Given the description of an element on the screen output the (x, y) to click on. 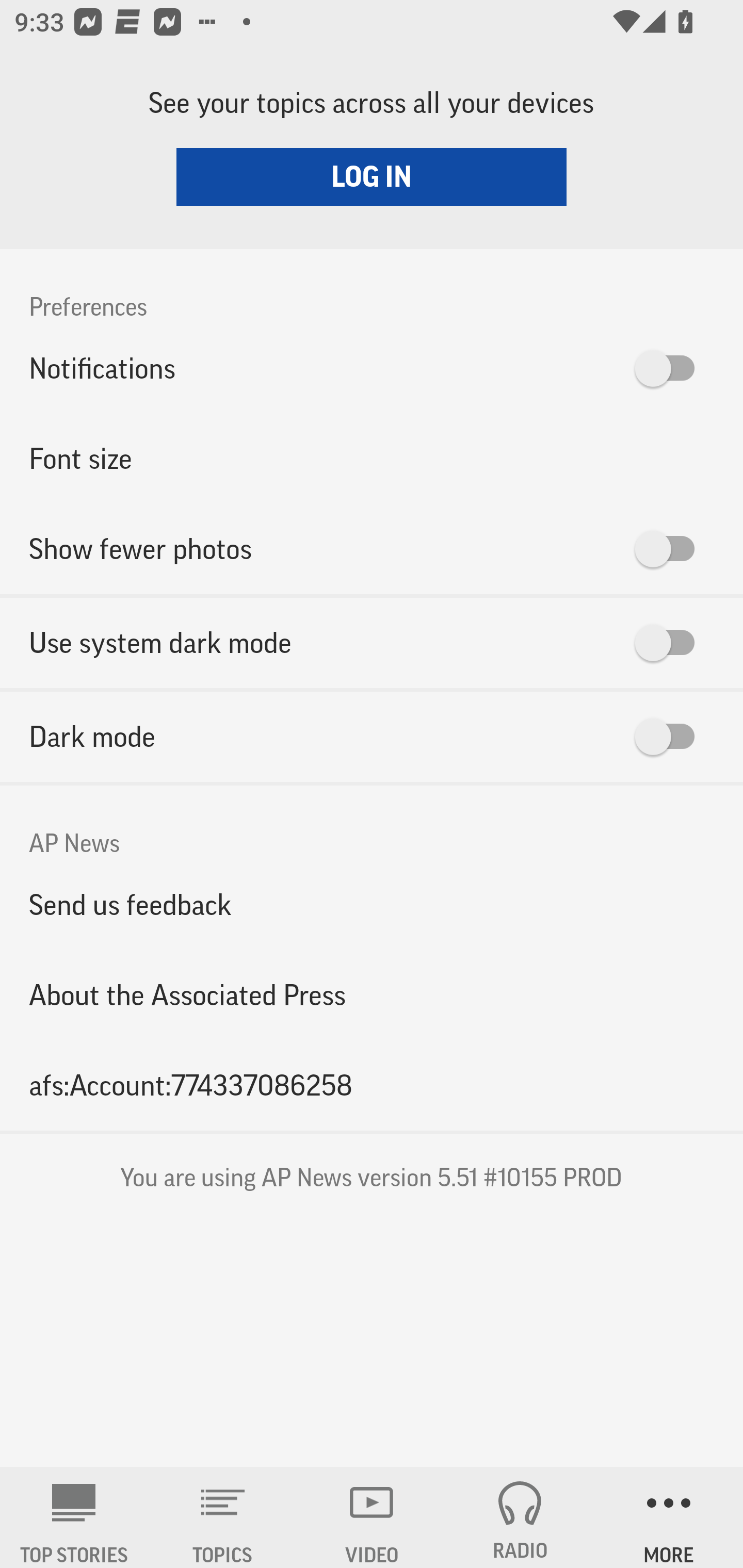
LOG IN (371, 176)
Notifications (371, 368)
Font size (371, 458)
Show fewer photos (371, 548)
Use system dark mode (371, 642)
Dark mode (371, 736)
Send us feedback (371, 904)
About the Associated Press (371, 994)
afs:Account:774337086258 (371, 1084)
AP News TOP STORIES (74, 1517)
TOPICS (222, 1517)
VIDEO (371, 1517)
RADIO (519, 1517)
MORE (668, 1517)
